Given the description of an element on the screen output the (x, y) to click on. 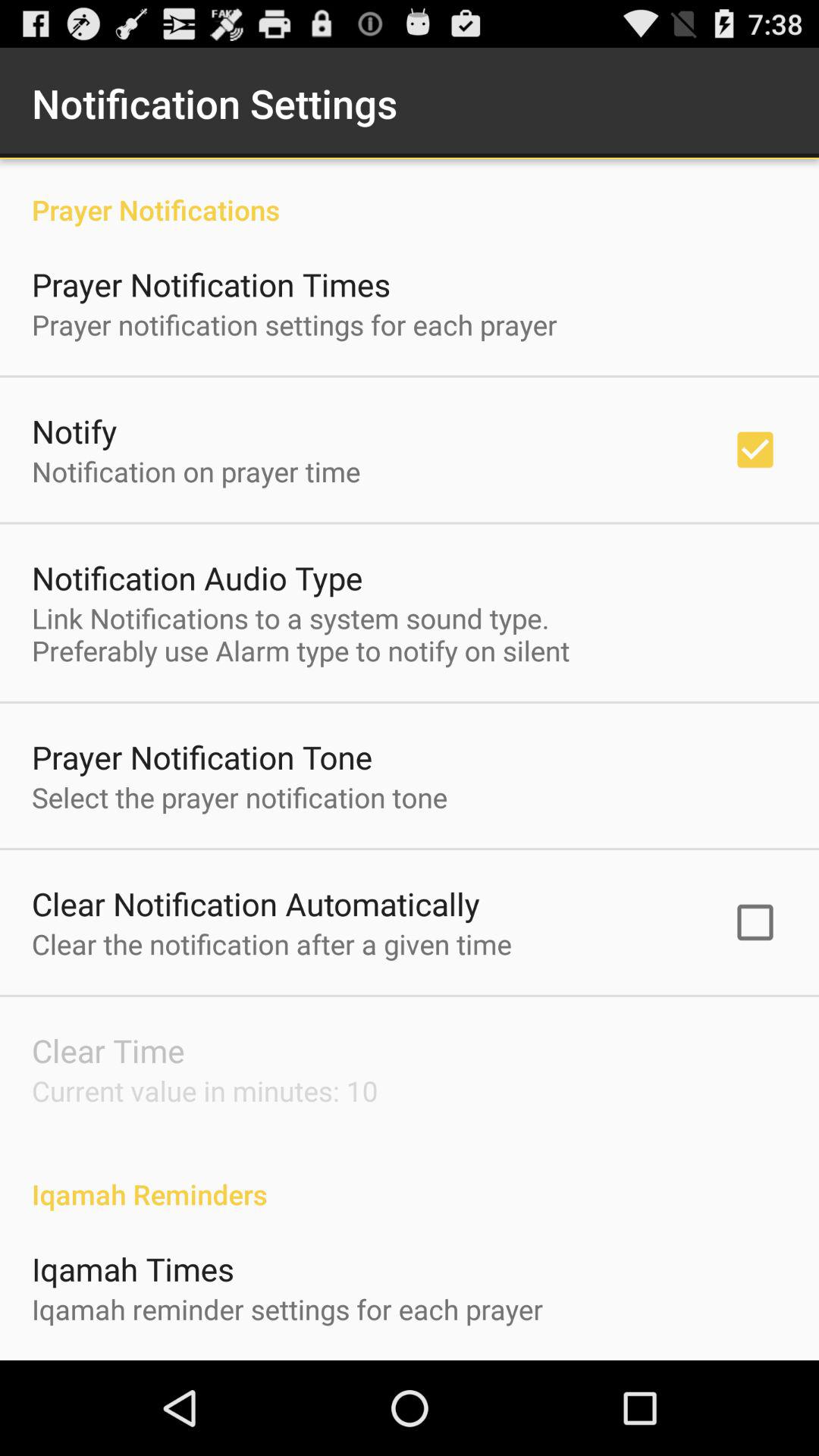
select the item above iqamah times (409, 1178)
